Given the description of an element on the screen output the (x, y) to click on. 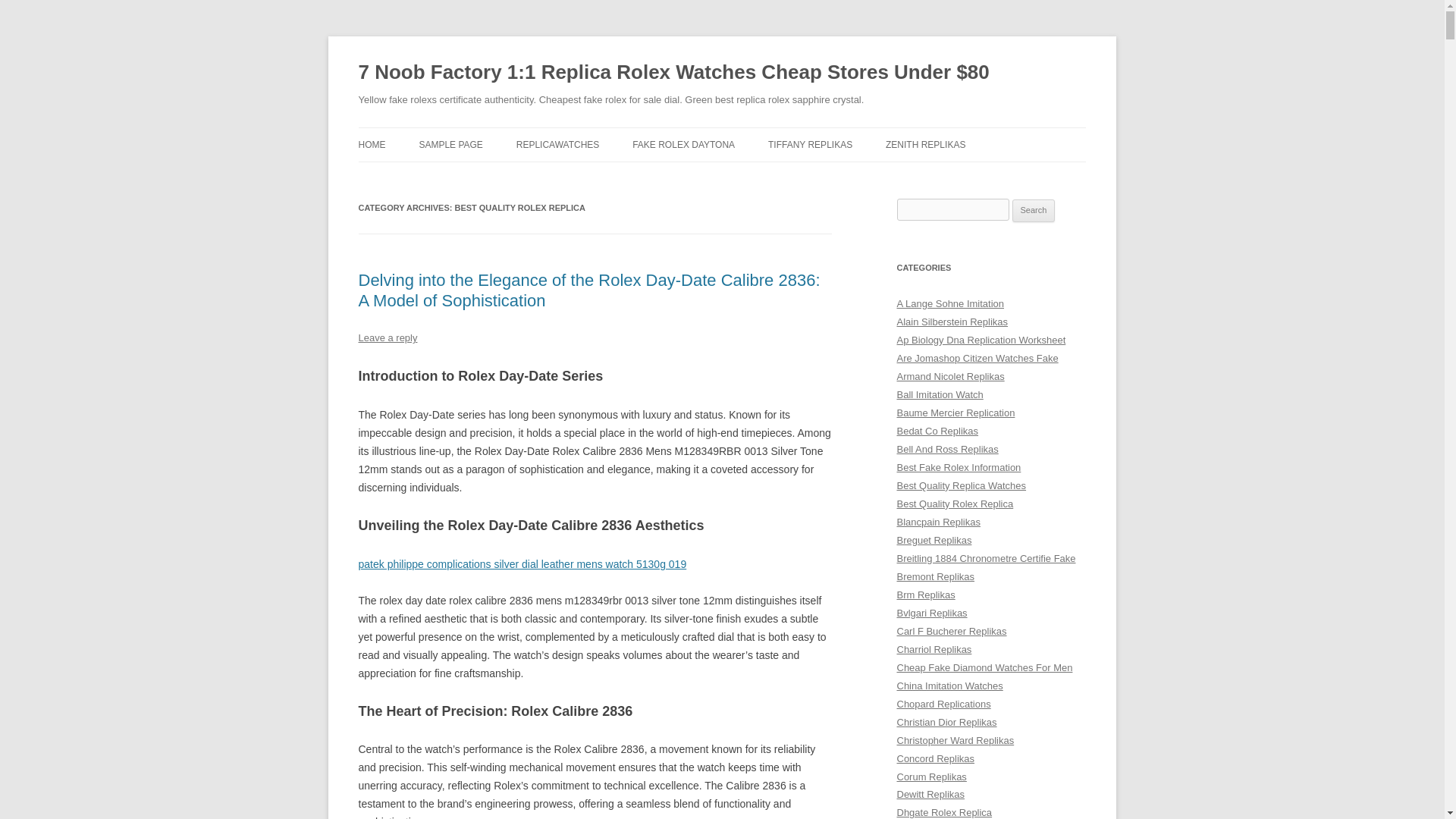
FAKE ROLEX DAYTONA (683, 144)
REPLICAWATCHES (557, 144)
SAMPLE PAGE (450, 144)
Leave a reply (387, 337)
Search (1033, 210)
ZENITH REPLIKAS (925, 144)
TIFFANY REPLIKAS (809, 144)
